Given the description of an element on the screen output the (x, y) to click on. 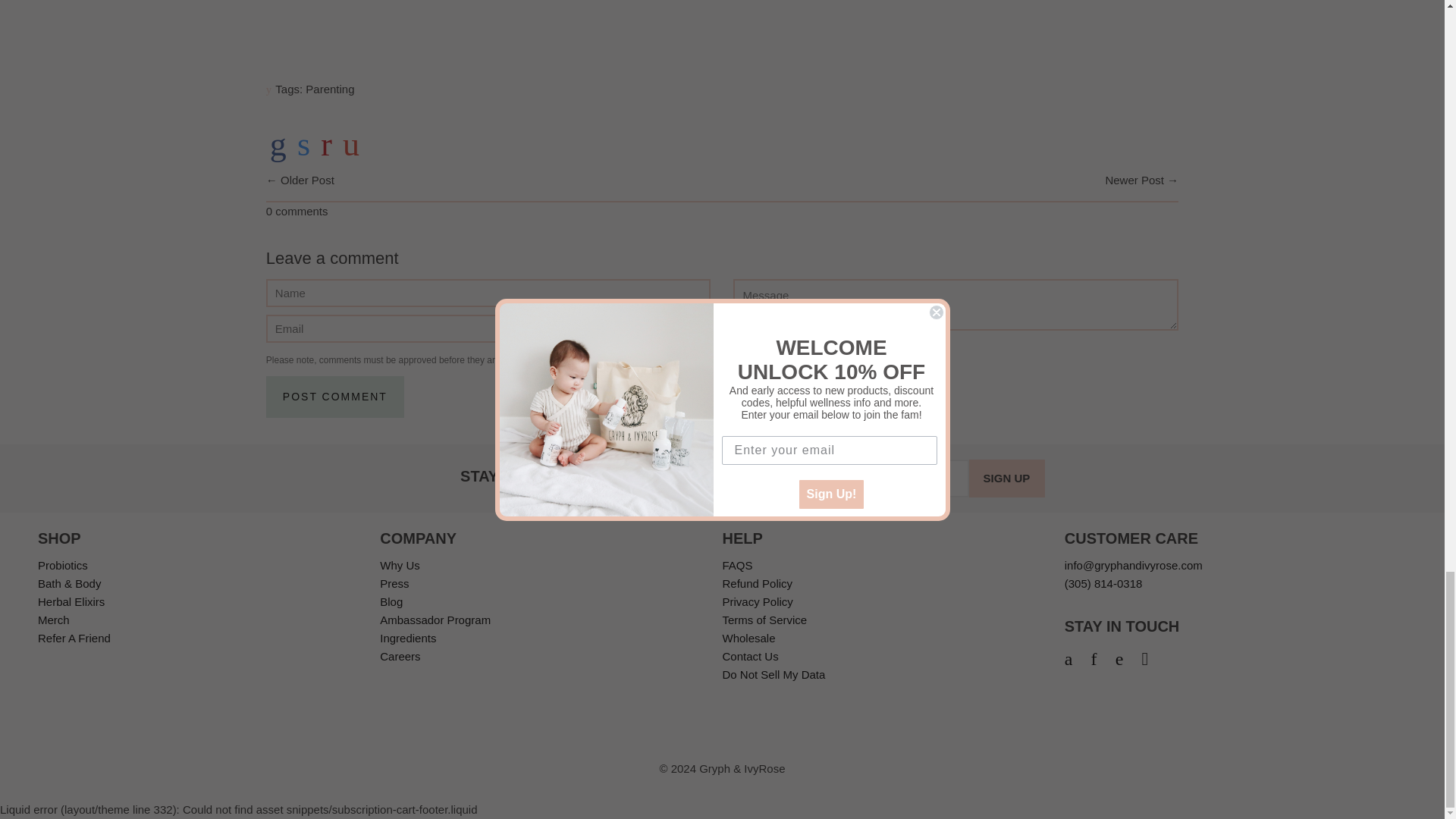
Post comment (335, 396)
